Given the description of an element on the screen output the (x, y) to click on. 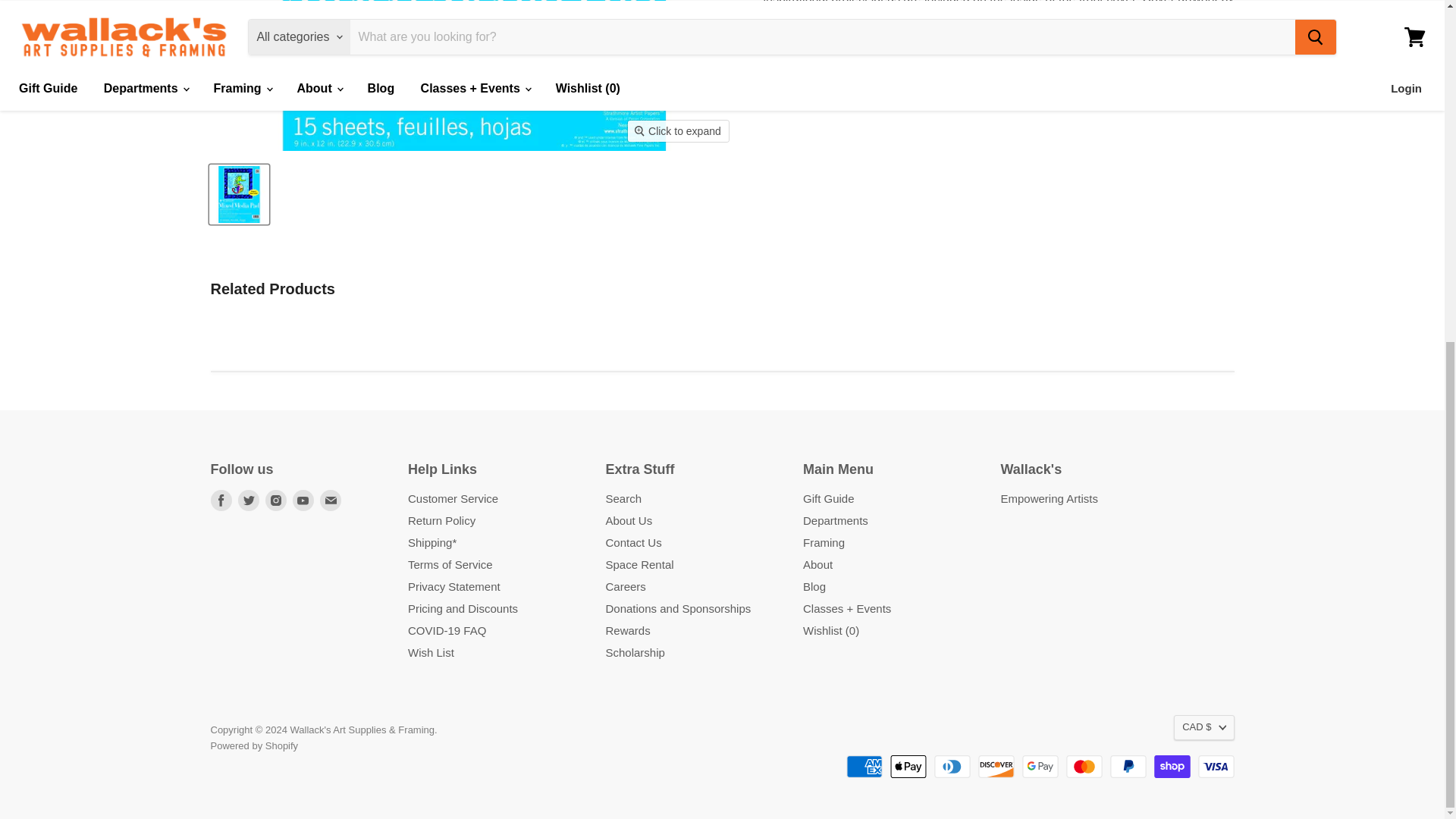
Email (330, 500)
Twitter (248, 500)
Youtube (303, 500)
Instagram (275, 500)
Facebook (221, 500)
